Given the description of an element on the screen output the (x, y) to click on. 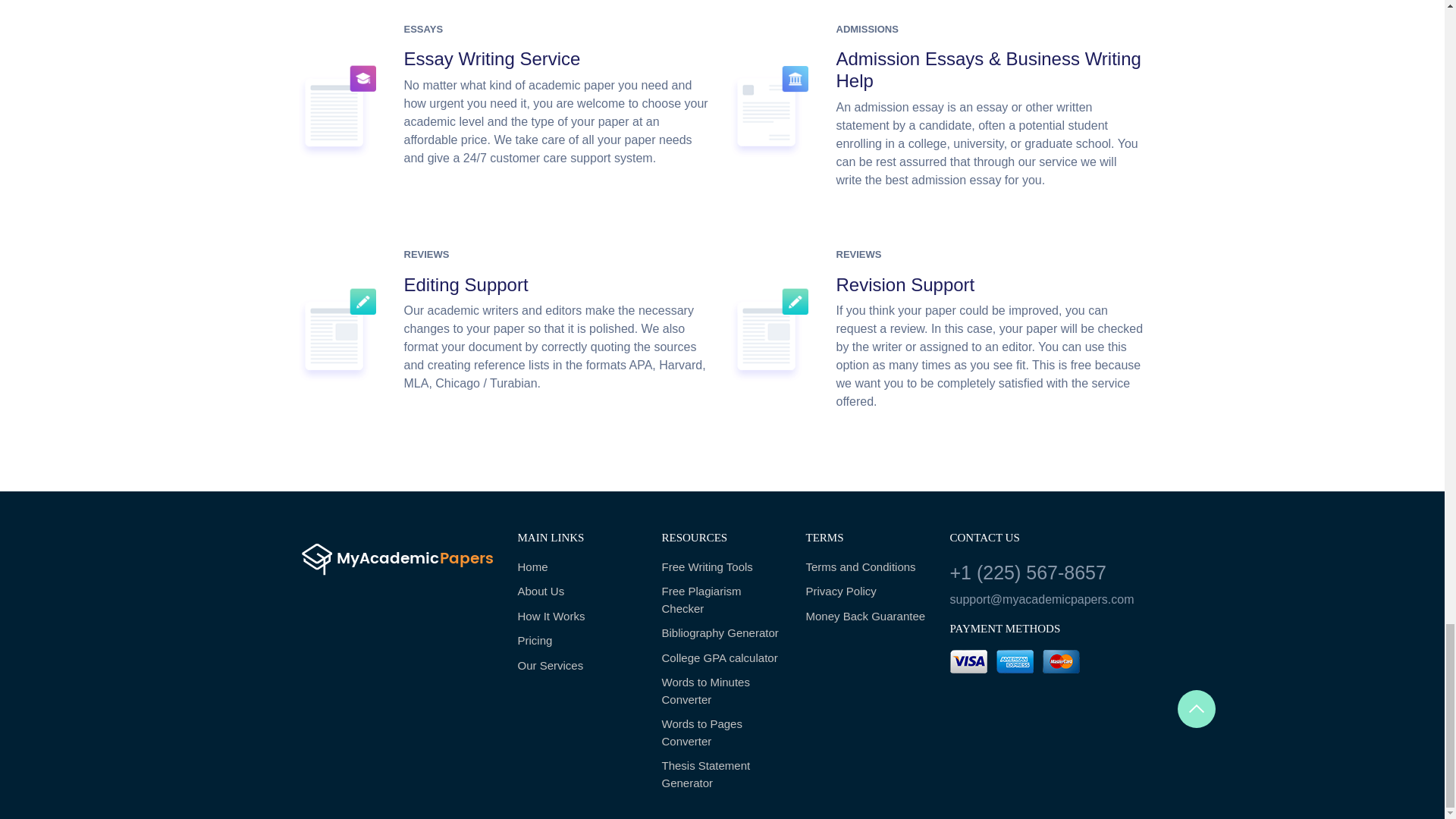
About Us (577, 591)
Our Services (577, 665)
Free Plagiarism Checker (722, 600)
Pricing (577, 641)
Bibliography Generator (722, 633)
Words to Pages Converter (722, 732)
Words to Minutes Converter (722, 691)
College GPA calculator (722, 658)
Free Writing Tools (722, 567)
How It Works (577, 616)
Home (577, 567)
